Given the description of an element on the screen output the (x, y) to click on. 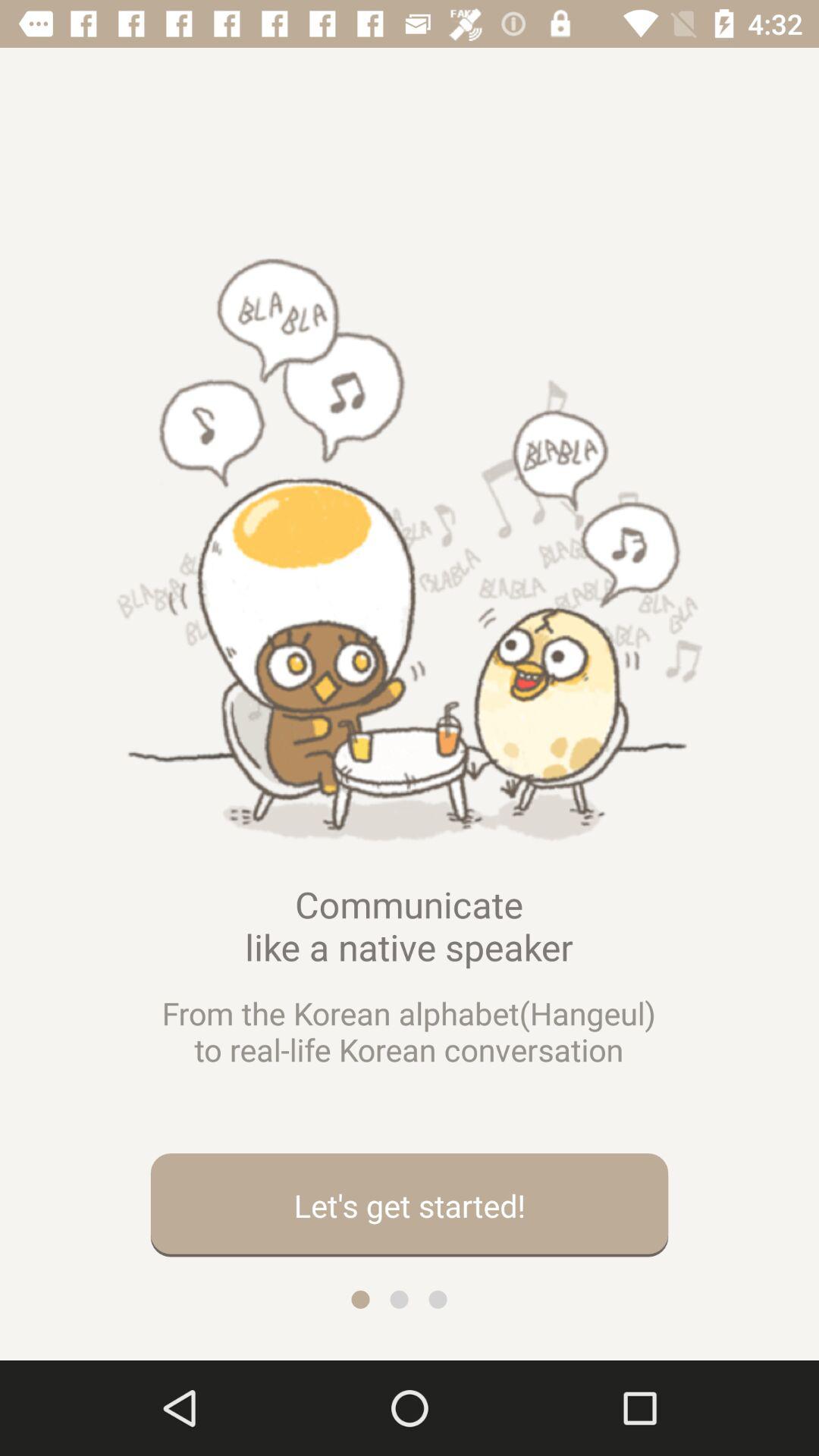
launch icon below the from the korean app (409, 1204)
